Given the description of an element on the screen output the (x, y) to click on. 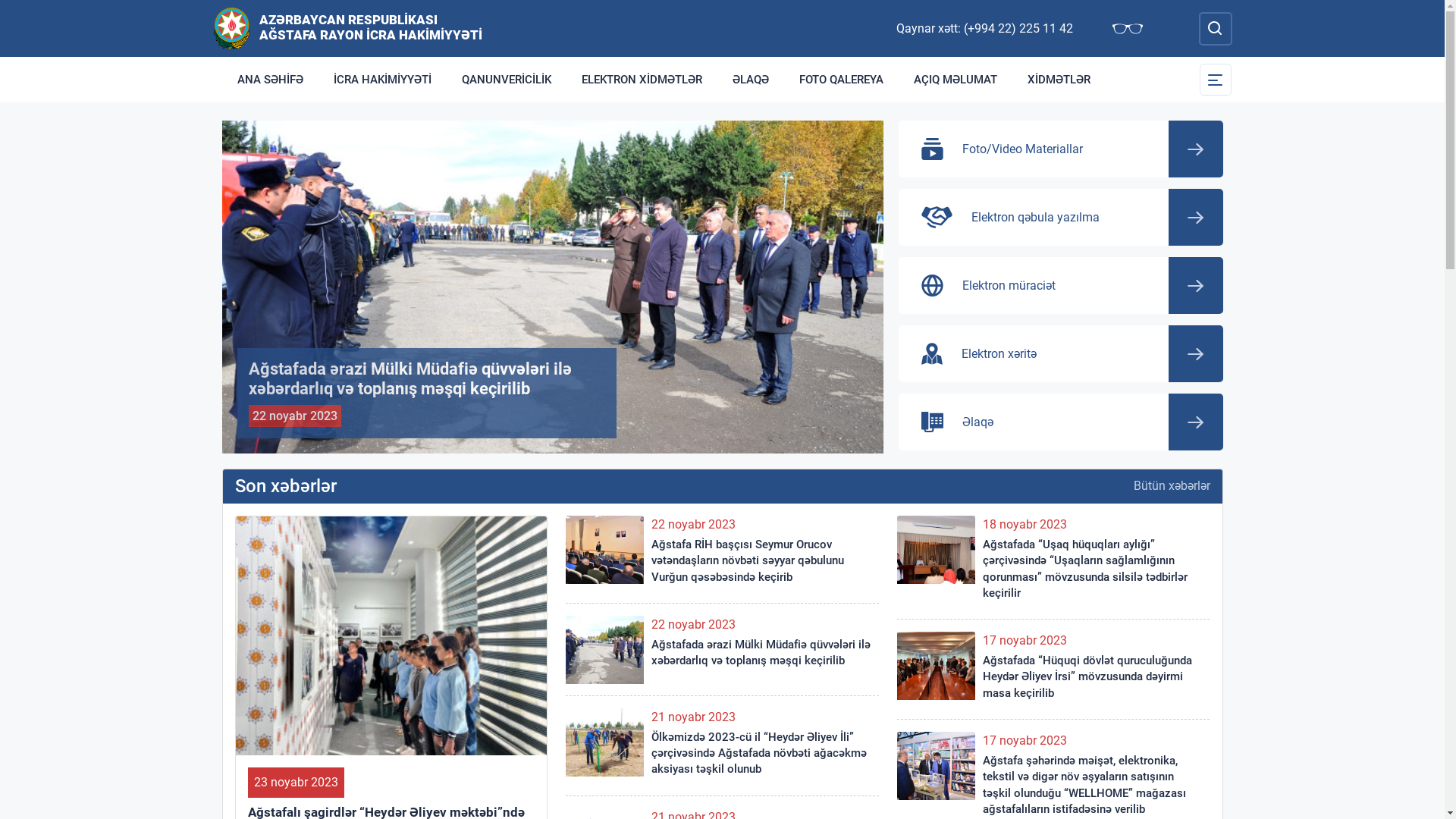
QANUNVERICILIK Element type: text (505, 79)
Foto/Video Materiallar Element type: text (1059, 148)
FOTO QALEREYA Element type: text (841, 79)
